Given the description of an element on the screen output the (x, y) to click on. 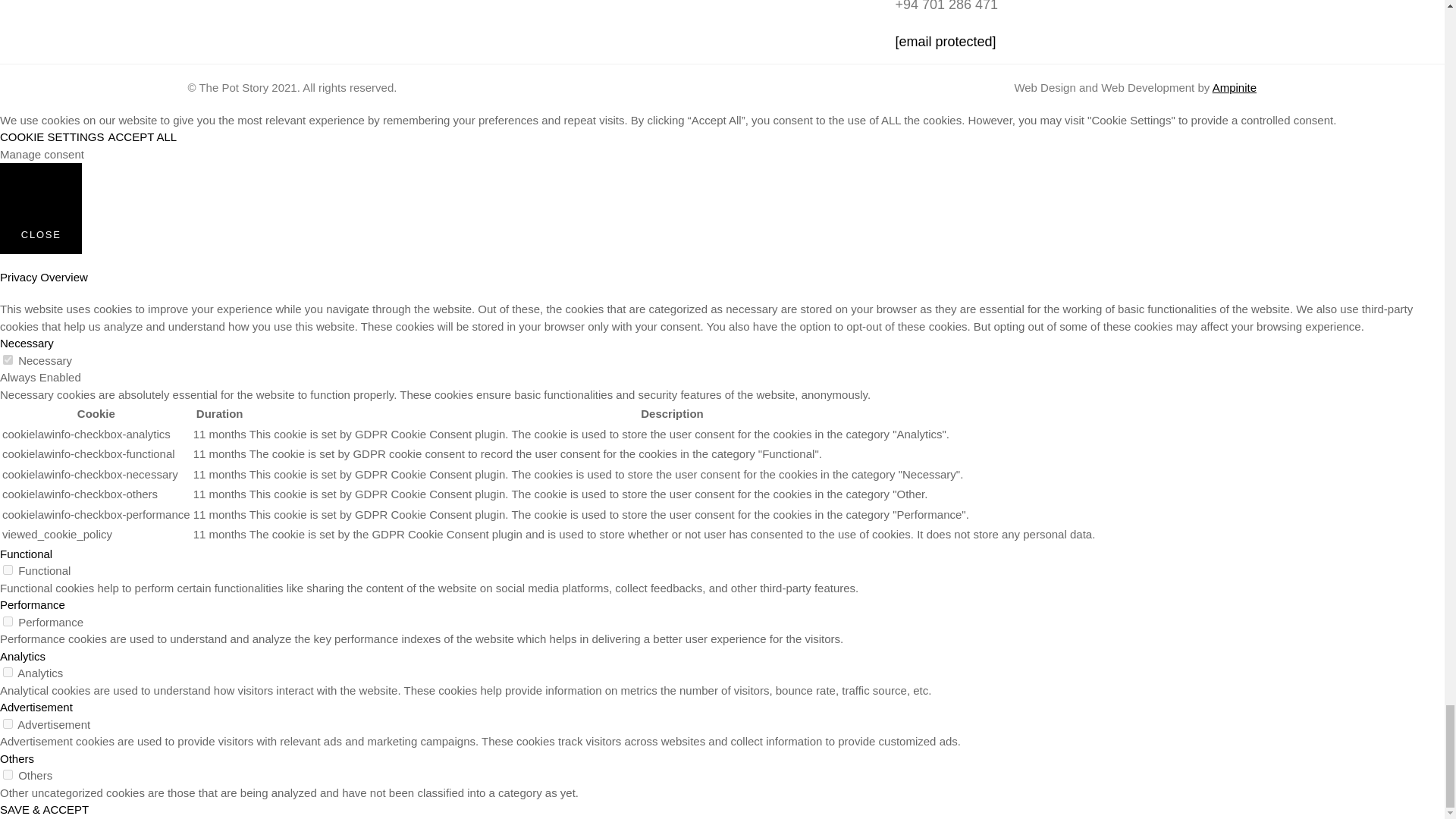
on (7, 359)
on (7, 723)
on (7, 774)
on (7, 569)
on (7, 672)
on (7, 621)
